Given the description of an element on the screen output the (x, y) to click on. 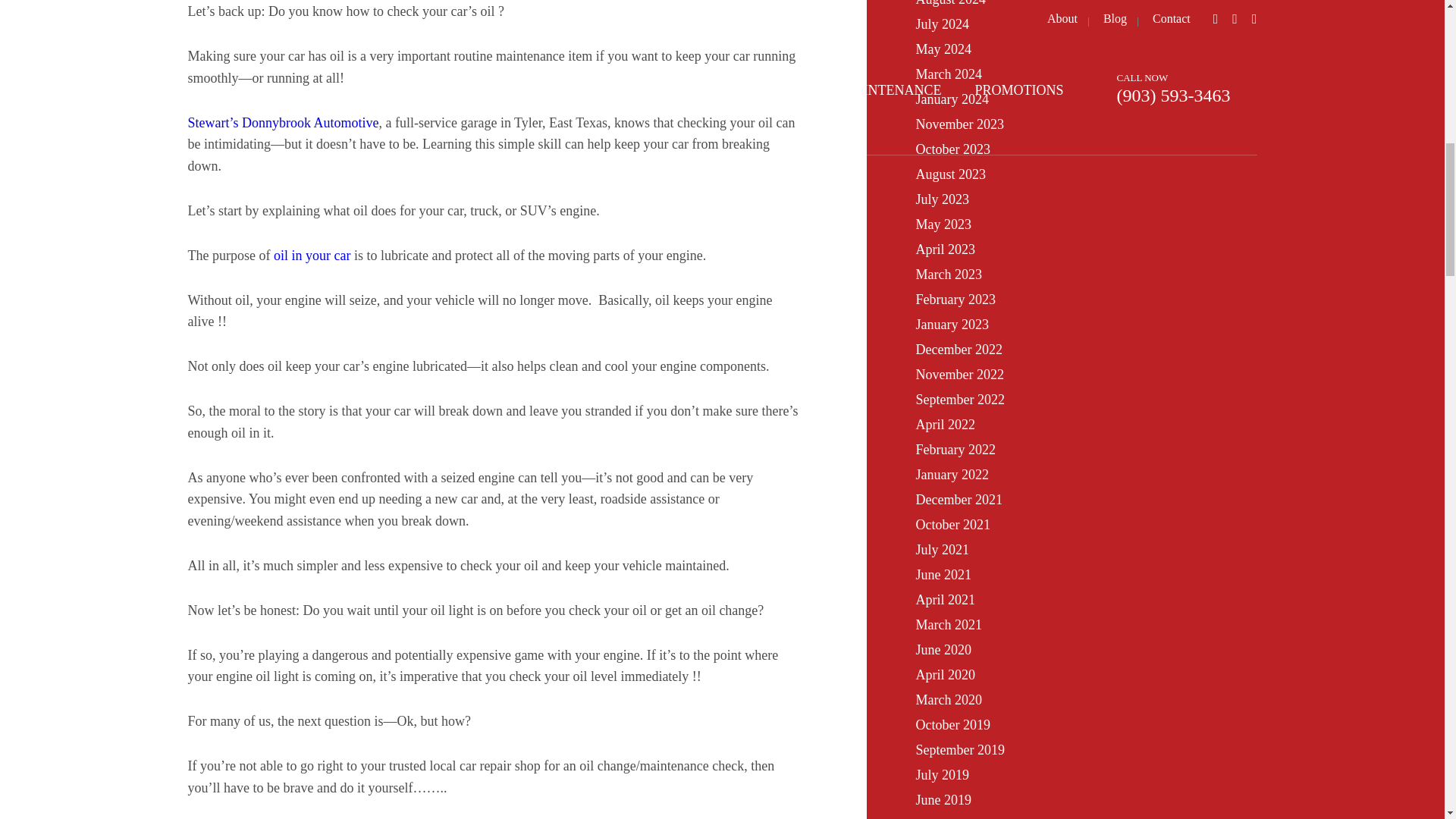
November 2023 (959, 124)
February 2023 (954, 299)
May 2024 (943, 48)
January 2024 (951, 99)
March 2024 (948, 73)
August 2024 (950, 3)
October 2023 (952, 149)
March 2023 (948, 273)
May 2023 (943, 224)
April 2023 (945, 249)
